Given the description of an element on the screen output the (x, y) to click on. 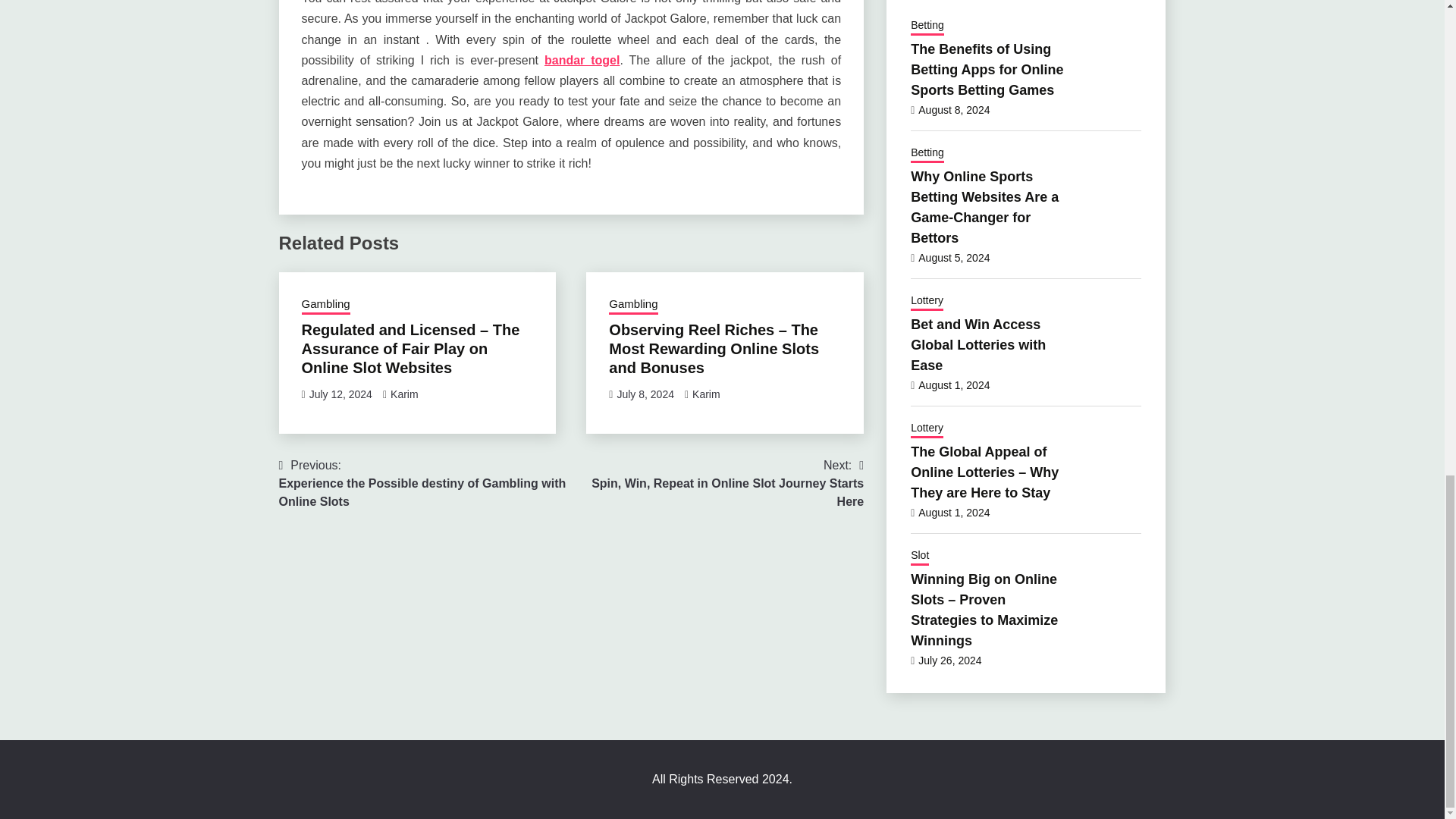
July 12, 2024 (340, 394)
Gambling (633, 305)
Gambling (325, 305)
July 8, 2024 (716, 483)
Karim (644, 394)
bandar togel (706, 394)
Karim (582, 60)
